Given the description of an element on the screen output the (x, y) to click on. 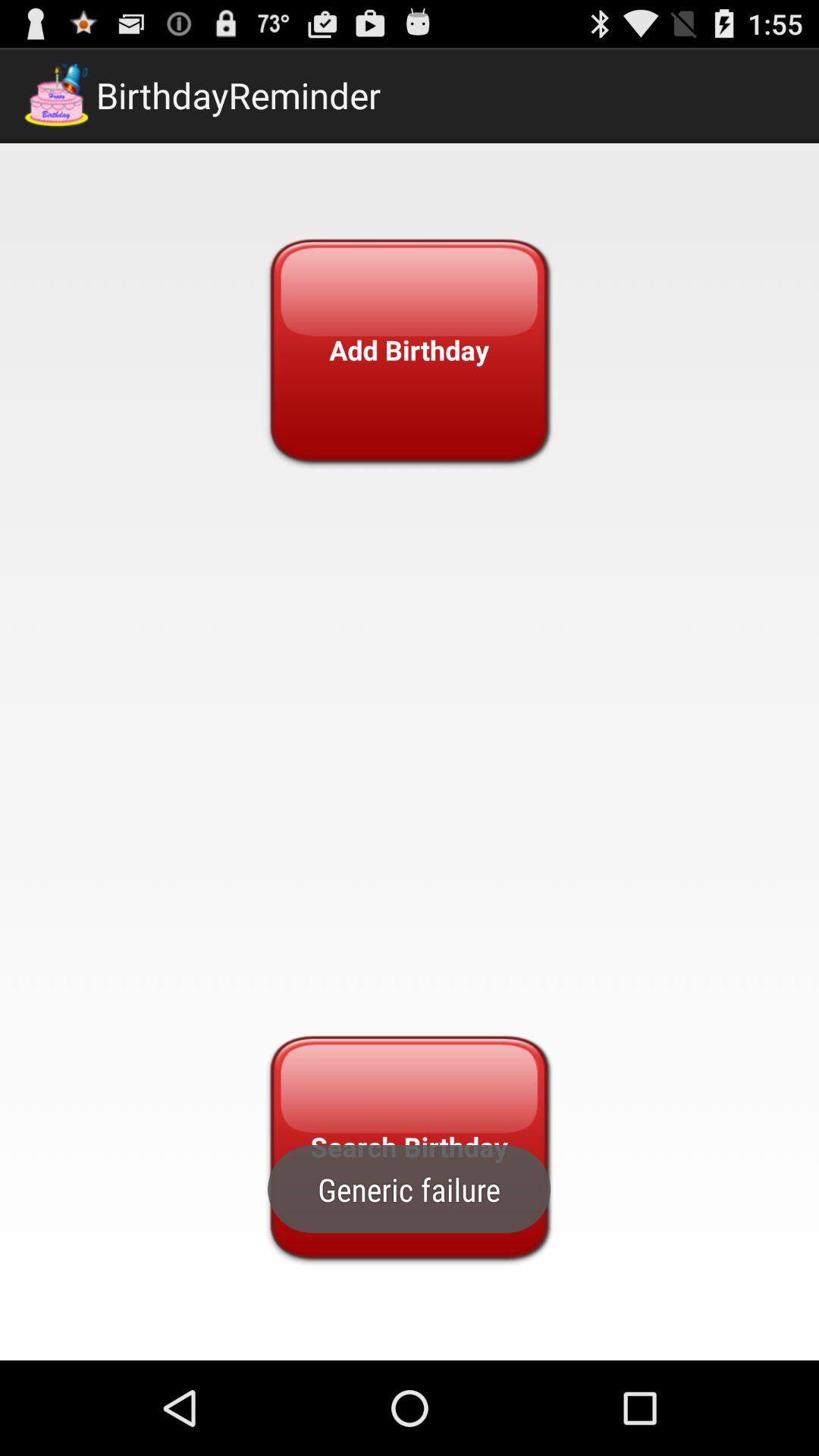
jump to search birthday icon (408, 1146)
